Given the description of an element on the screen output the (x, y) to click on. 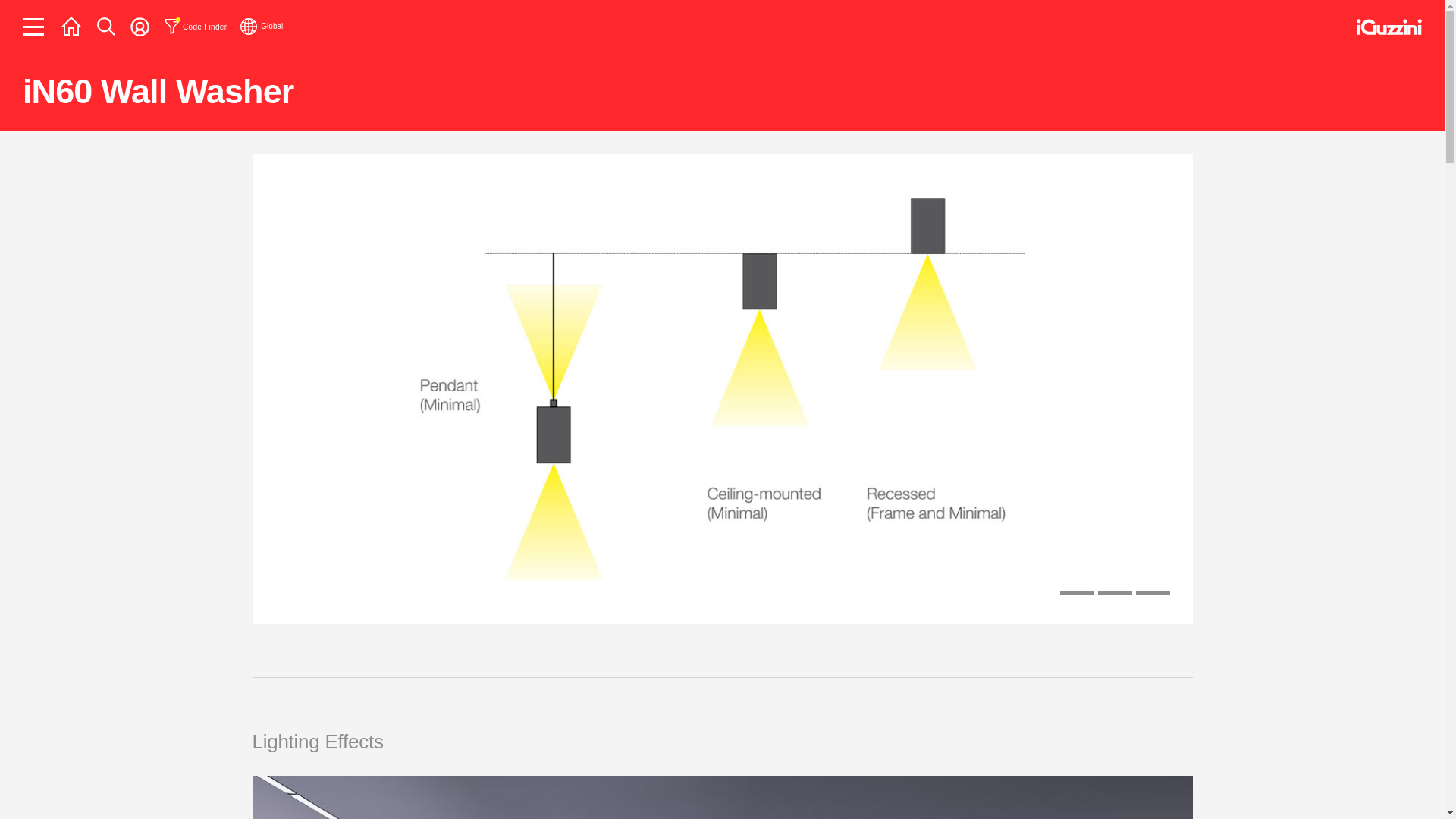
Search (106, 26)
iGuzzini (1389, 26)
Code Finder (196, 26)
Account (140, 25)
iGuzzini (1389, 29)
Code Finder (196, 26)
Home (70, 26)
